Given the description of an element on the screen output the (x, y) to click on. 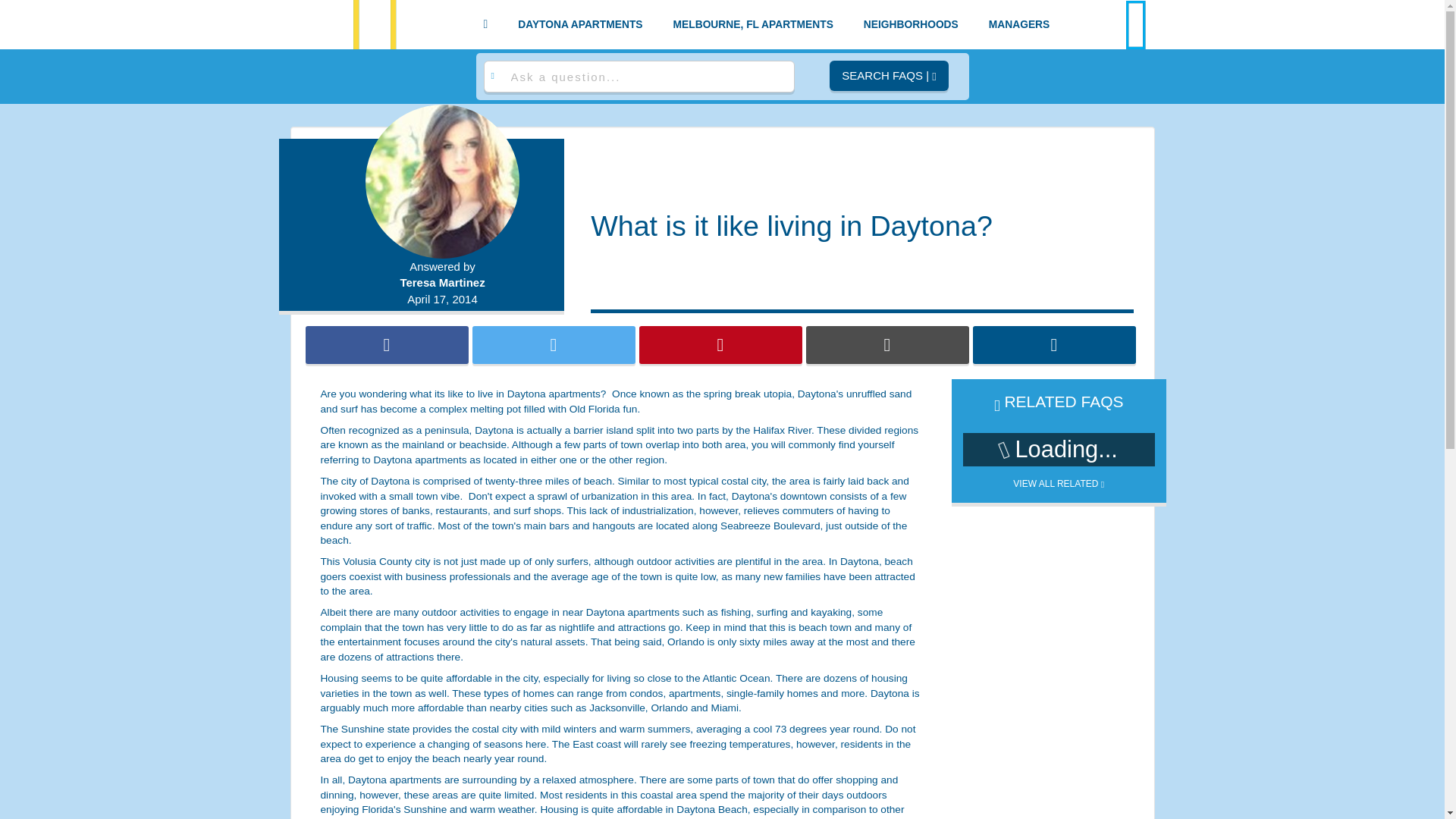
Neighborhoods (910, 24)
NEIGHBORHOODS (910, 24)
Daytona Beach Apartments (579, 24)
A member of the iLSnetwork (1136, 24)
MANAGERS (1018, 24)
DAYTONA APARTMENTS (579, 24)
Share on Twitter (552, 344)
Teresa Martinez (442, 282)
MELBOURNE, FL APARTMENTS (753, 24)
Copy Link To This Page (1053, 344)
